Given the description of an element on the screen output the (x, y) to click on. 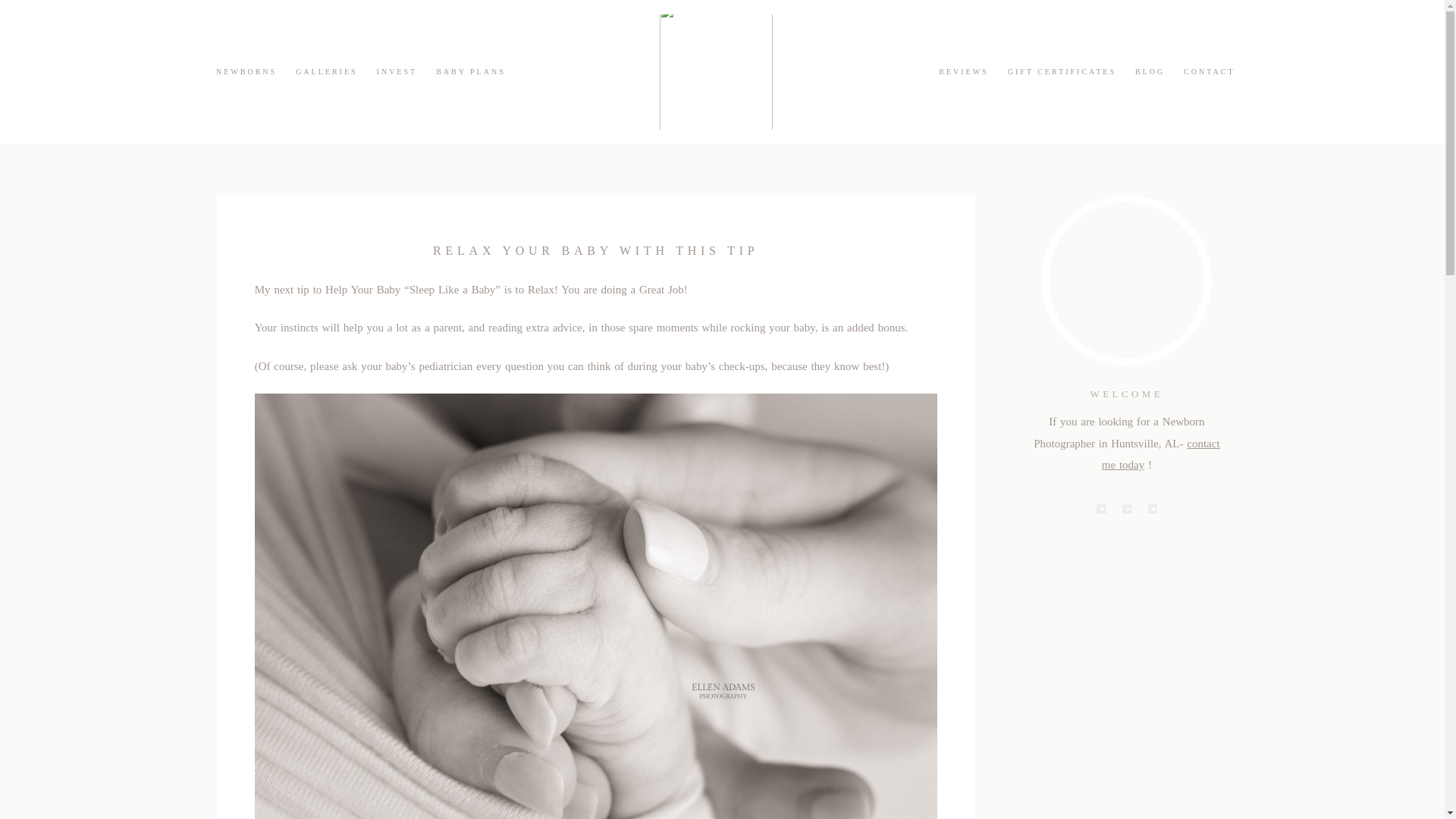
BLOG (1149, 71)
contact me today (1161, 454)
ellen adams (721, 71)
GIFT CERTIFICATES (1061, 71)
REVIEWS (963, 71)
BABY PLANS (470, 71)
NEWBORNS (245, 71)
CONTACT (1208, 71)
GALLERIES (325, 71)
INVEST (397, 71)
